Given the description of an element on the screen output the (x, y) to click on. 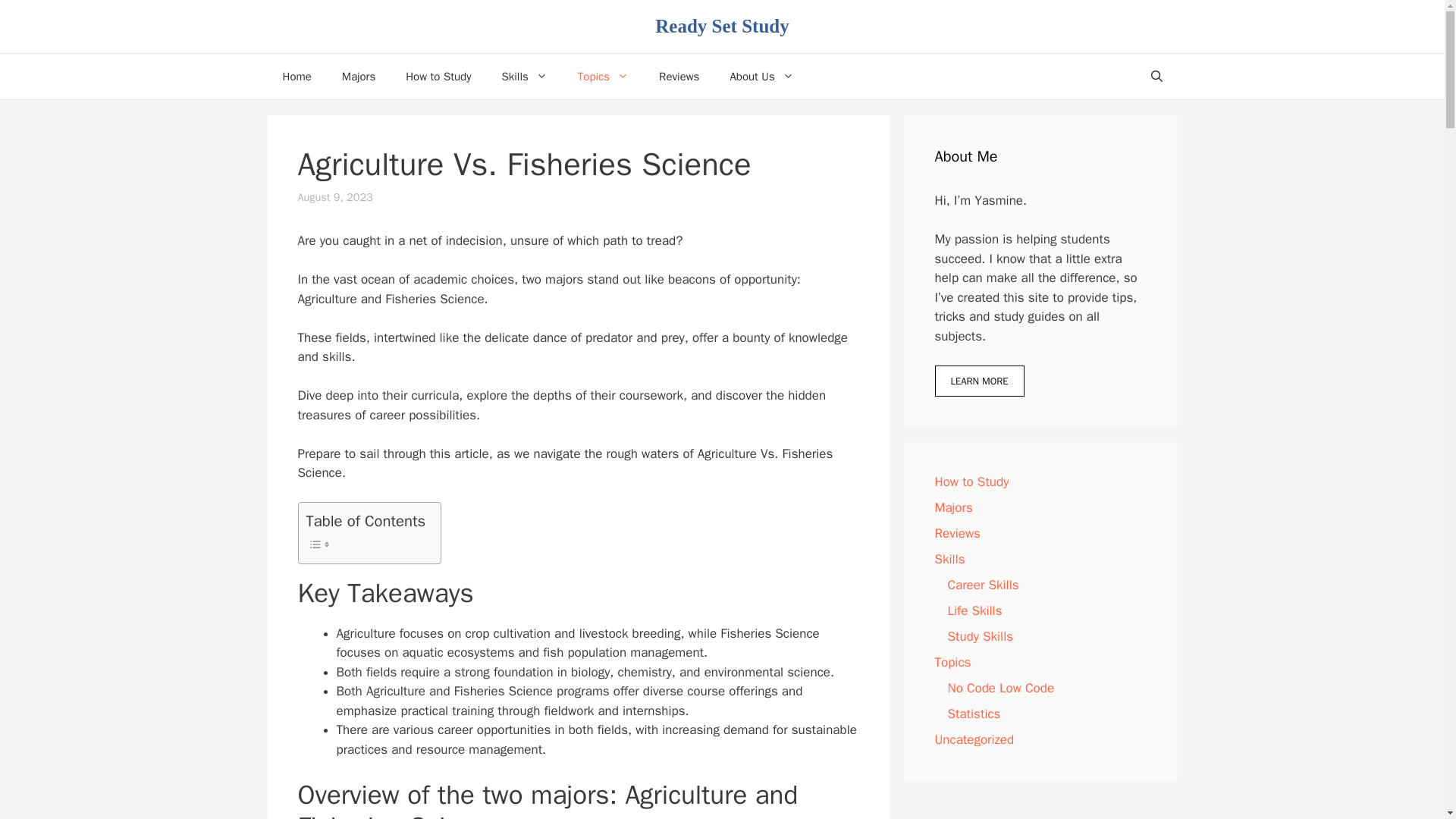
About Us (761, 76)
How to Study (438, 76)
Skills (524, 76)
Topics (602, 76)
Ready Set Study (722, 25)
Reviews (678, 76)
Majors (358, 76)
Home (296, 76)
